Given the description of an element on the screen output the (x, y) to click on. 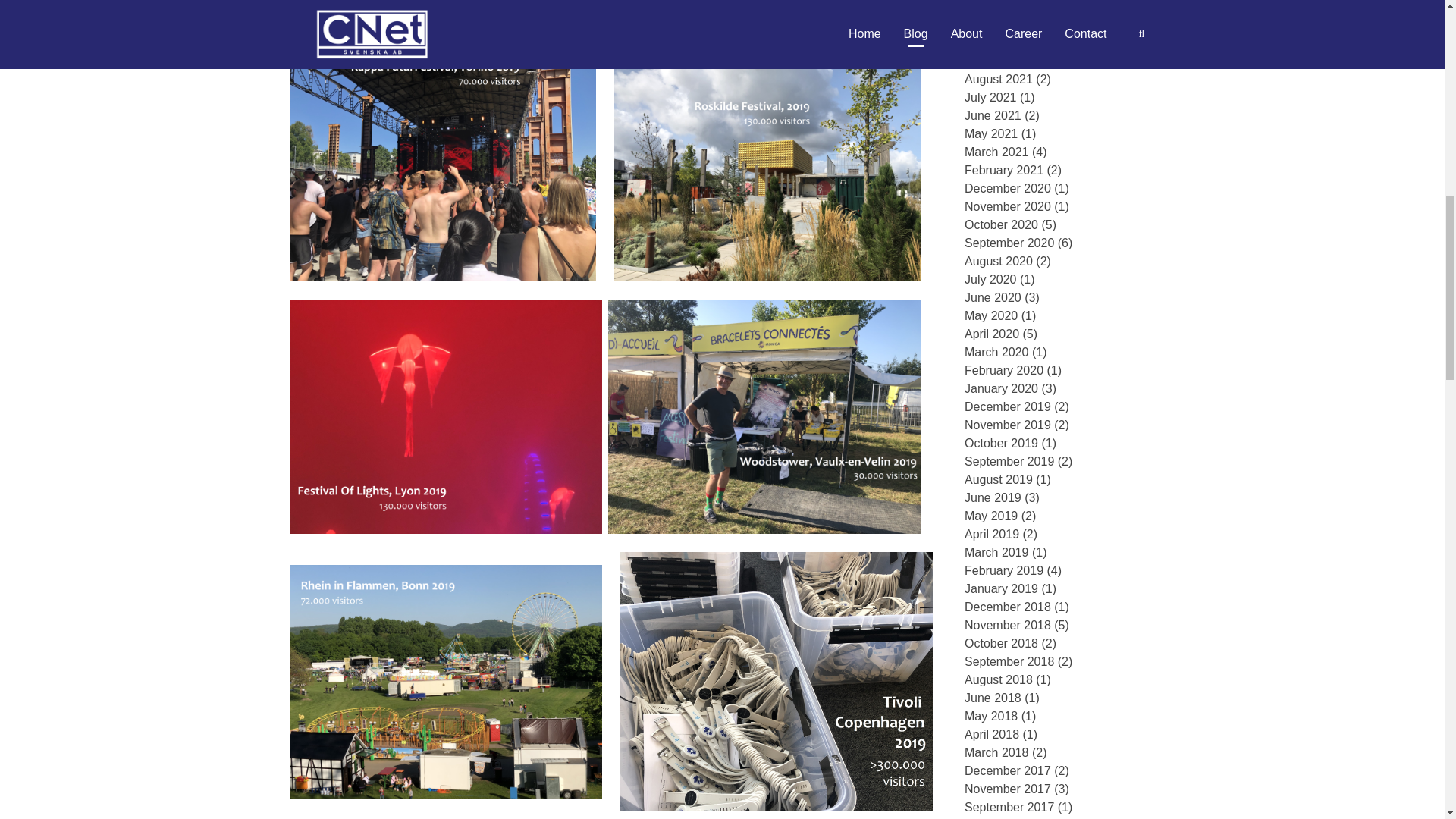
MONICA (314, 32)
